Given the description of an element on the screen output the (x, y) to click on. 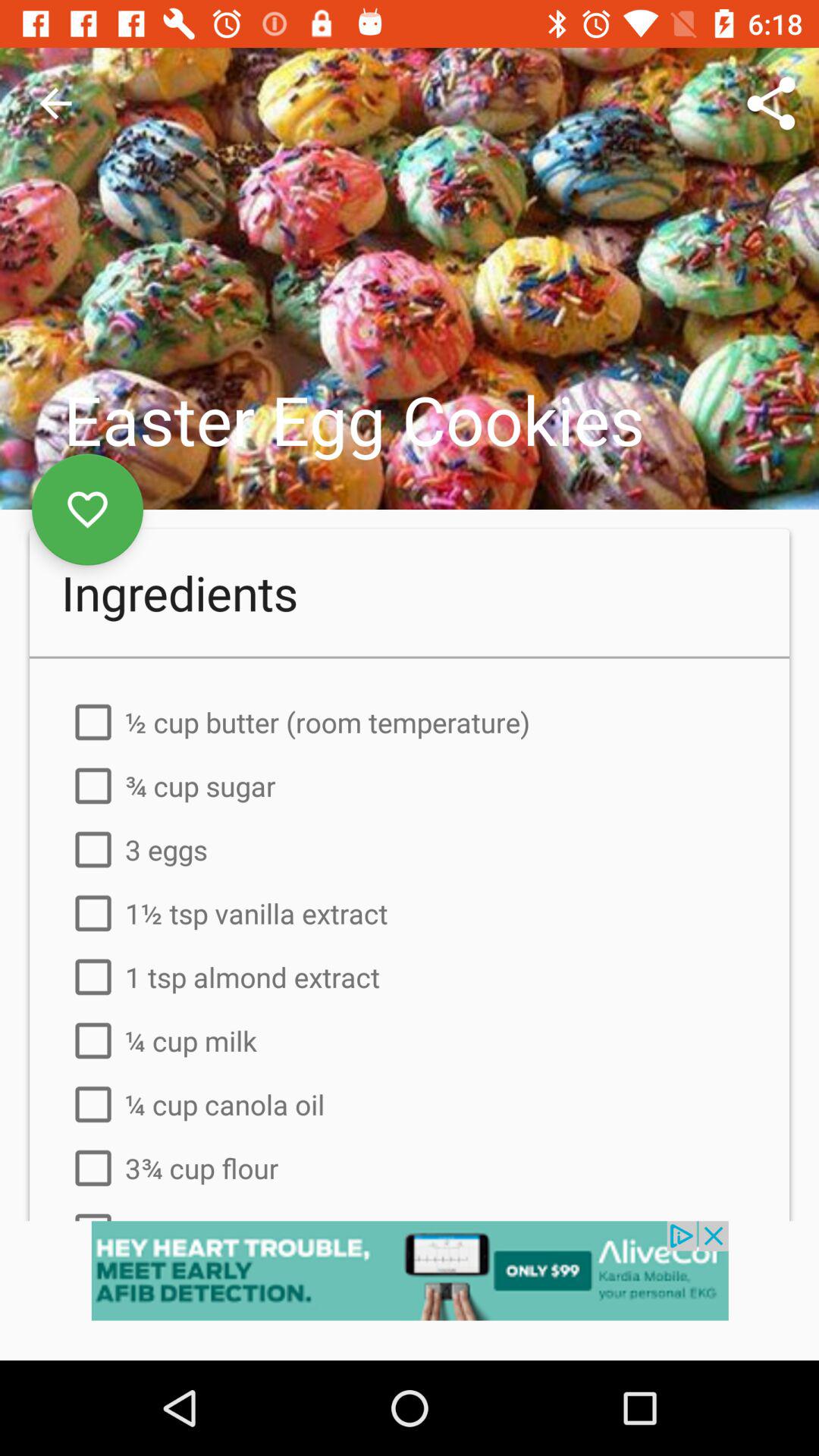
add favorite (87, 509)
